Given the description of an element on the screen output the (x, y) to click on. 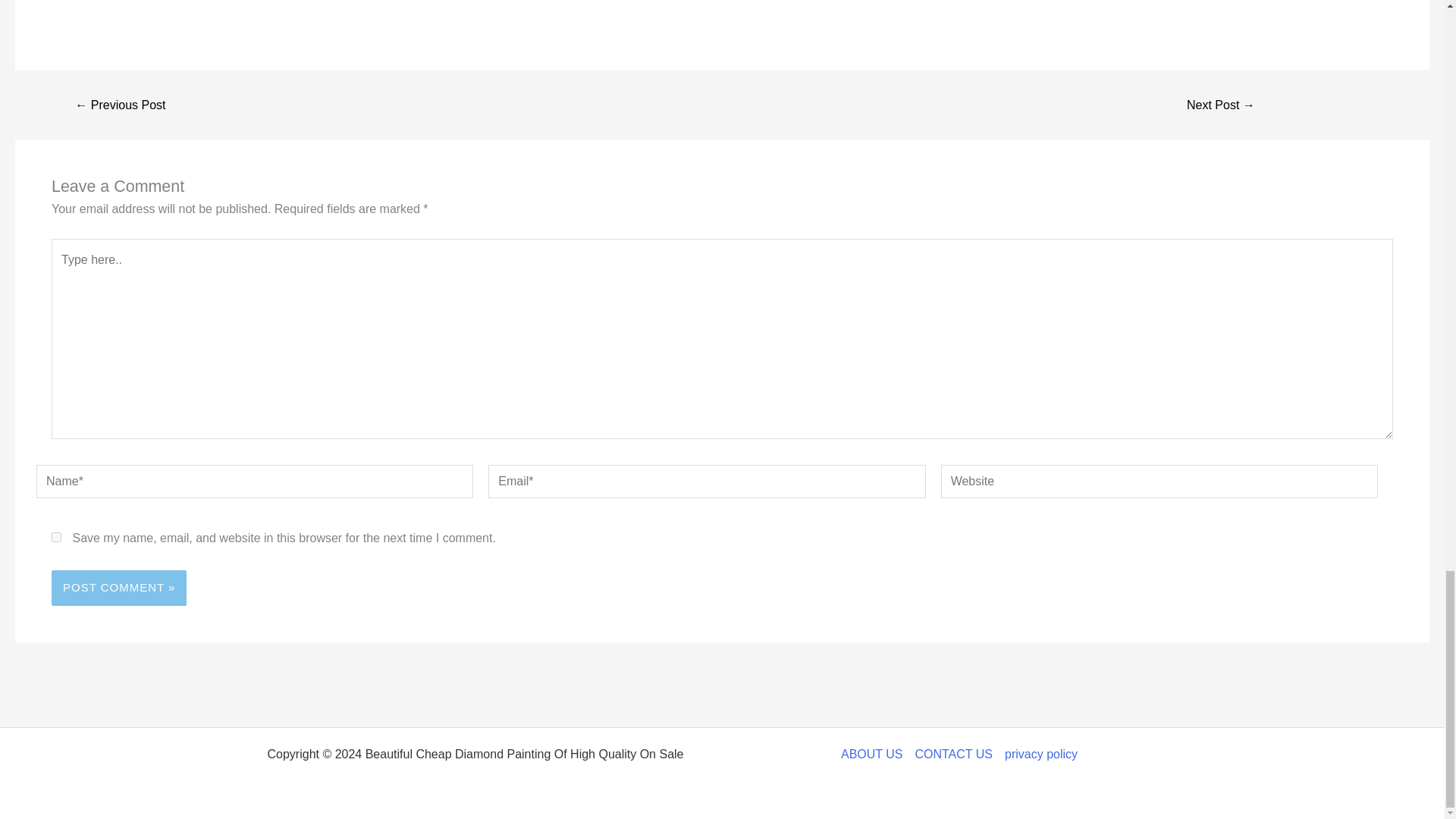
yes (55, 537)
